Given the description of an element on the screen output the (x, y) to click on. 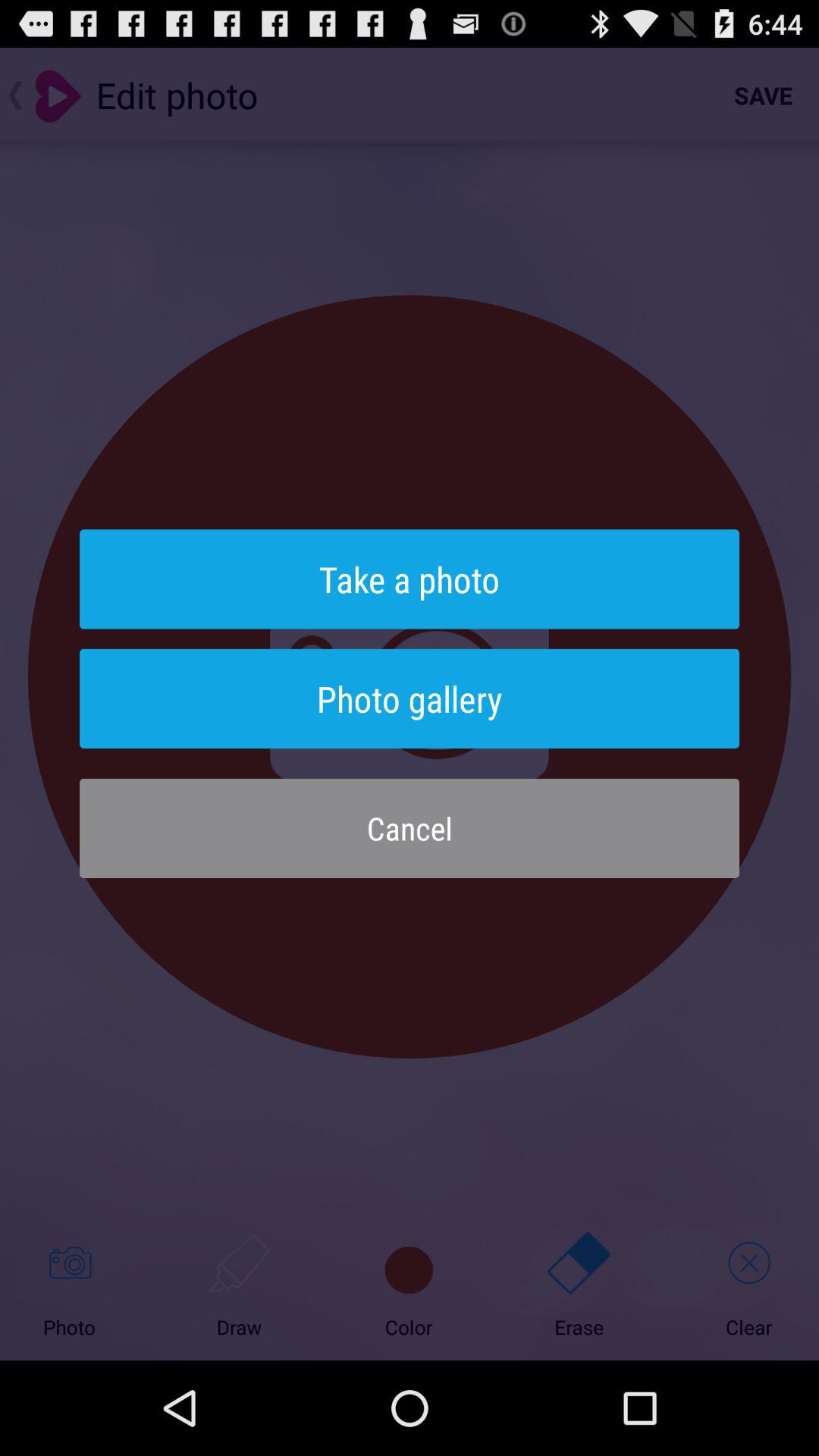
jump until take a photo (409, 579)
